Given the description of an element on the screen output the (x, y) to click on. 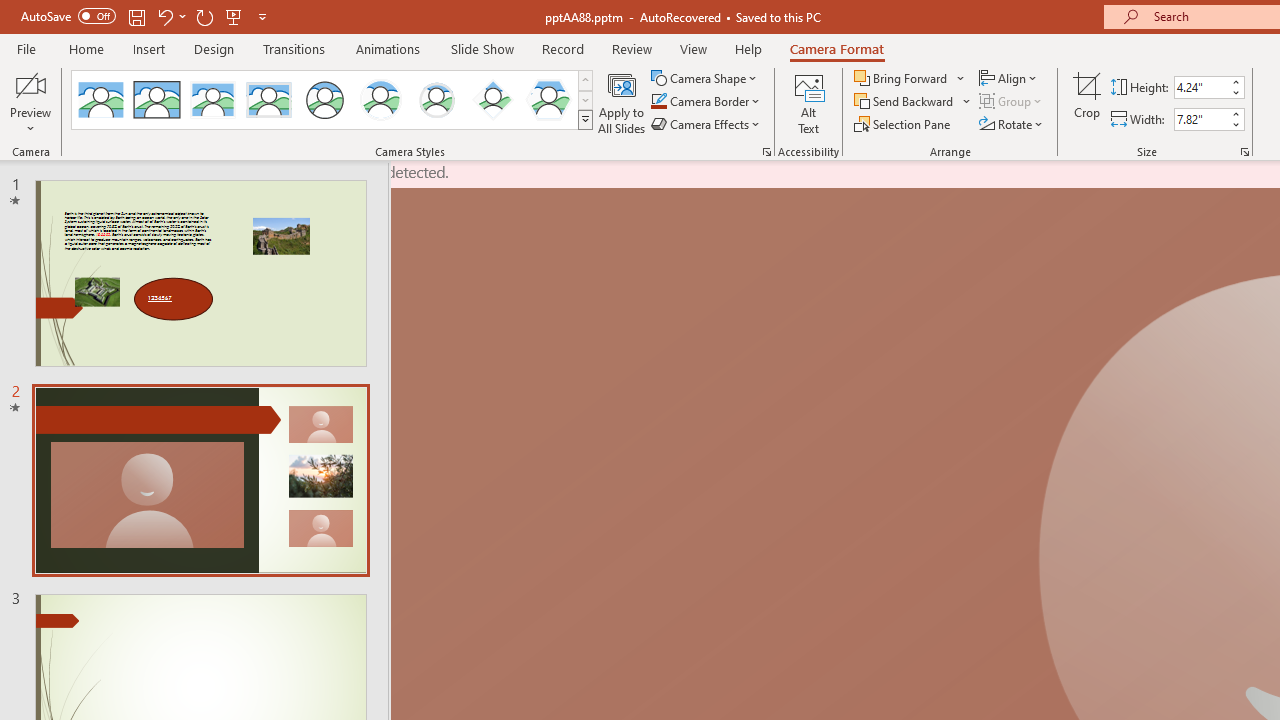
Camera Border Teal, Accent 1 (658, 101)
Camera Effects (706, 124)
Enable Camera Preview (30, 84)
Cameo Width (1201, 119)
Soft Edge Circle (436, 100)
Center Shadow Hexagon (548, 100)
Soft Edge Rectangle (268, 100)
